Given the description of an element on the screen output the (x, y) to click on. 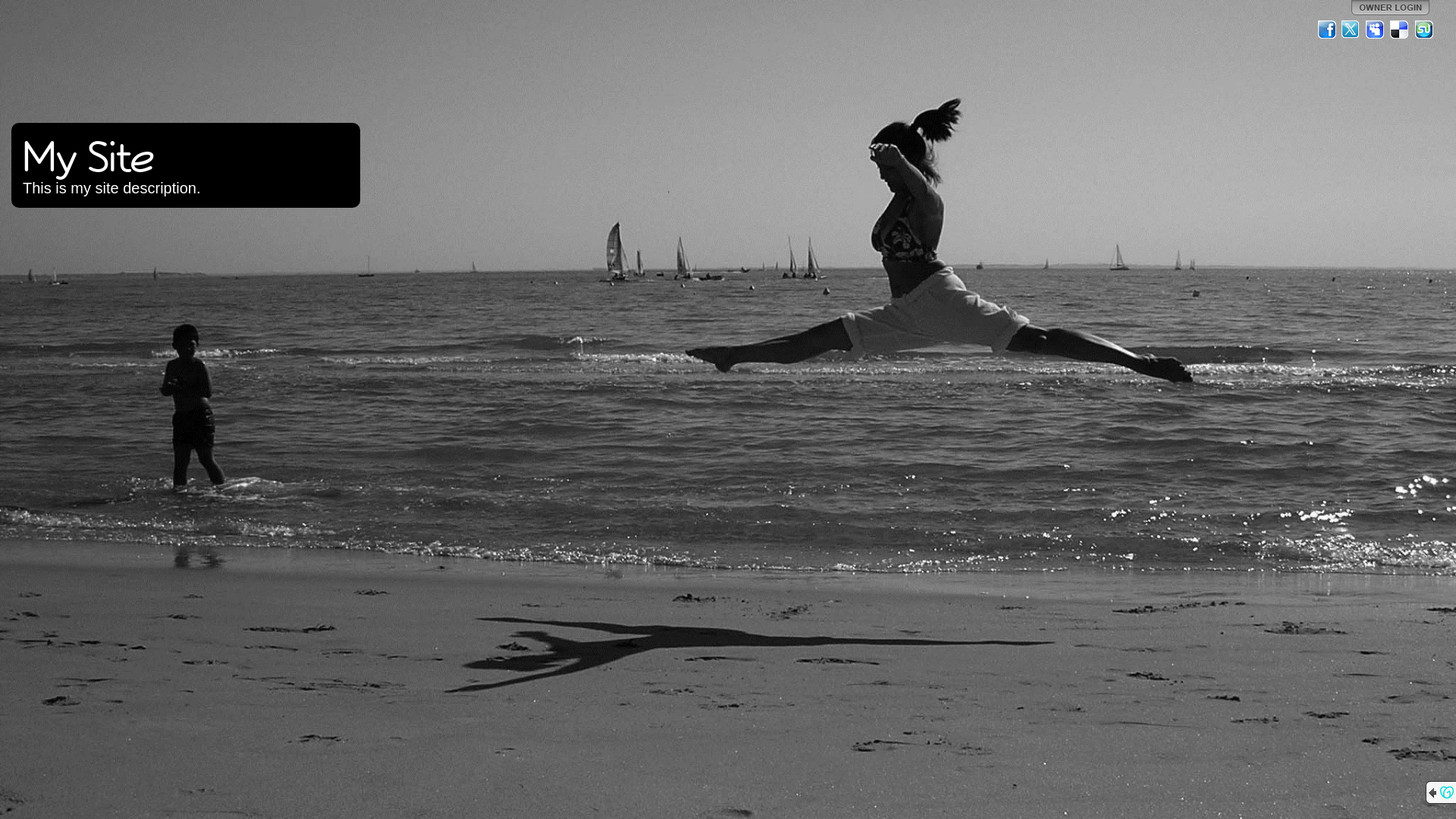
Twitter Element type: text (1350, 29)
StumbleUpon Element type: text (1423, 29)
MySpace Element type: text (1375, 29)
Del.icio.us Element type: text (1399, 29)
Facebook Element type: text (1326, 29)
